Given the description of an element on the screen output the (x, y) to click on. 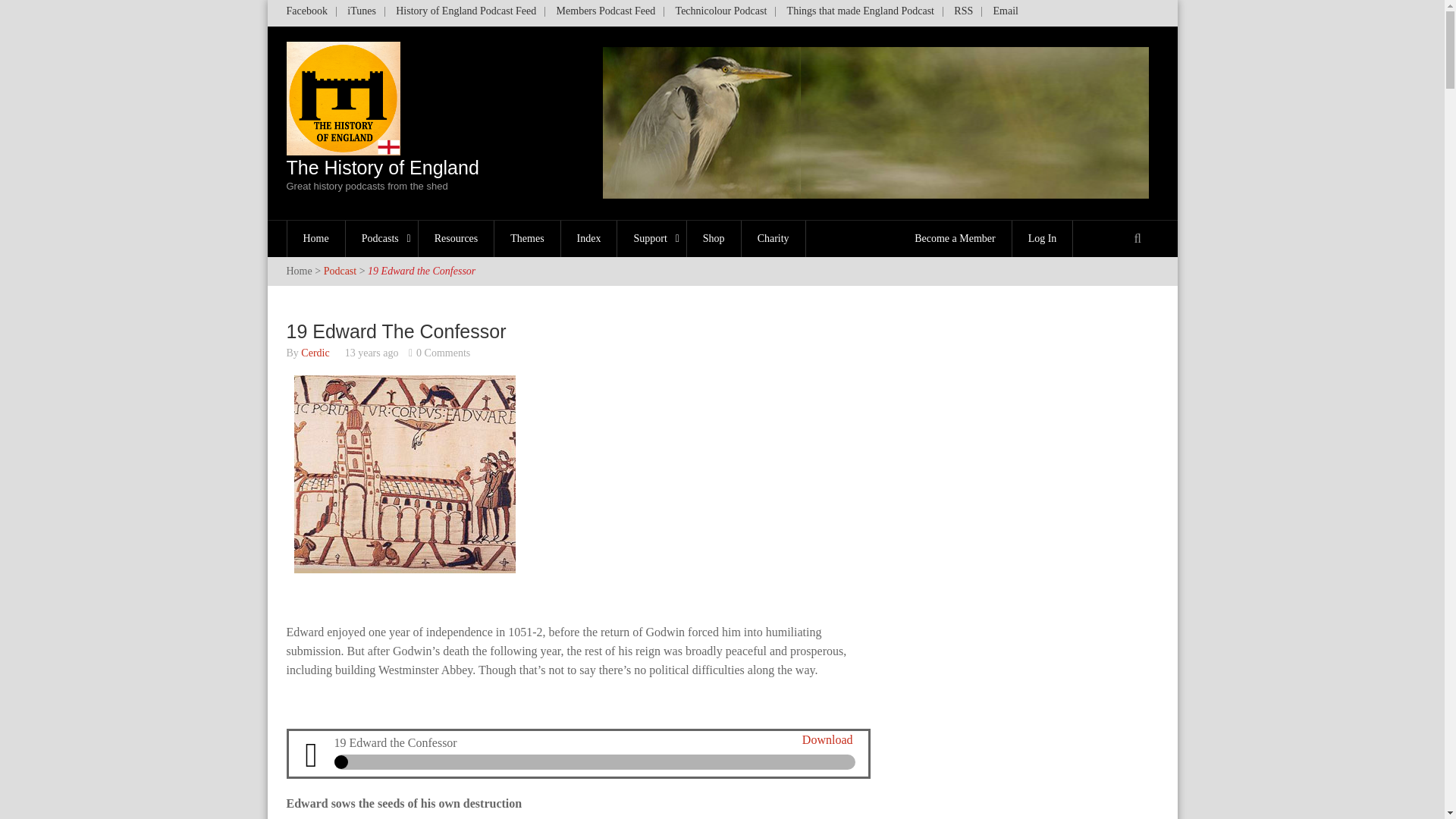
Facebook (310, 13)
Podcasts (382, 238)
Things that made England Podcast (860, 13)
Shop (714, 238)
iTunes (361, 13)
Resources (457, 238)
Support (651, 238)
RSS (962, 13)
Themes (527, 238)
Home (316, 238)
